Given the description of an element on the screen output the (x, y) to click on. 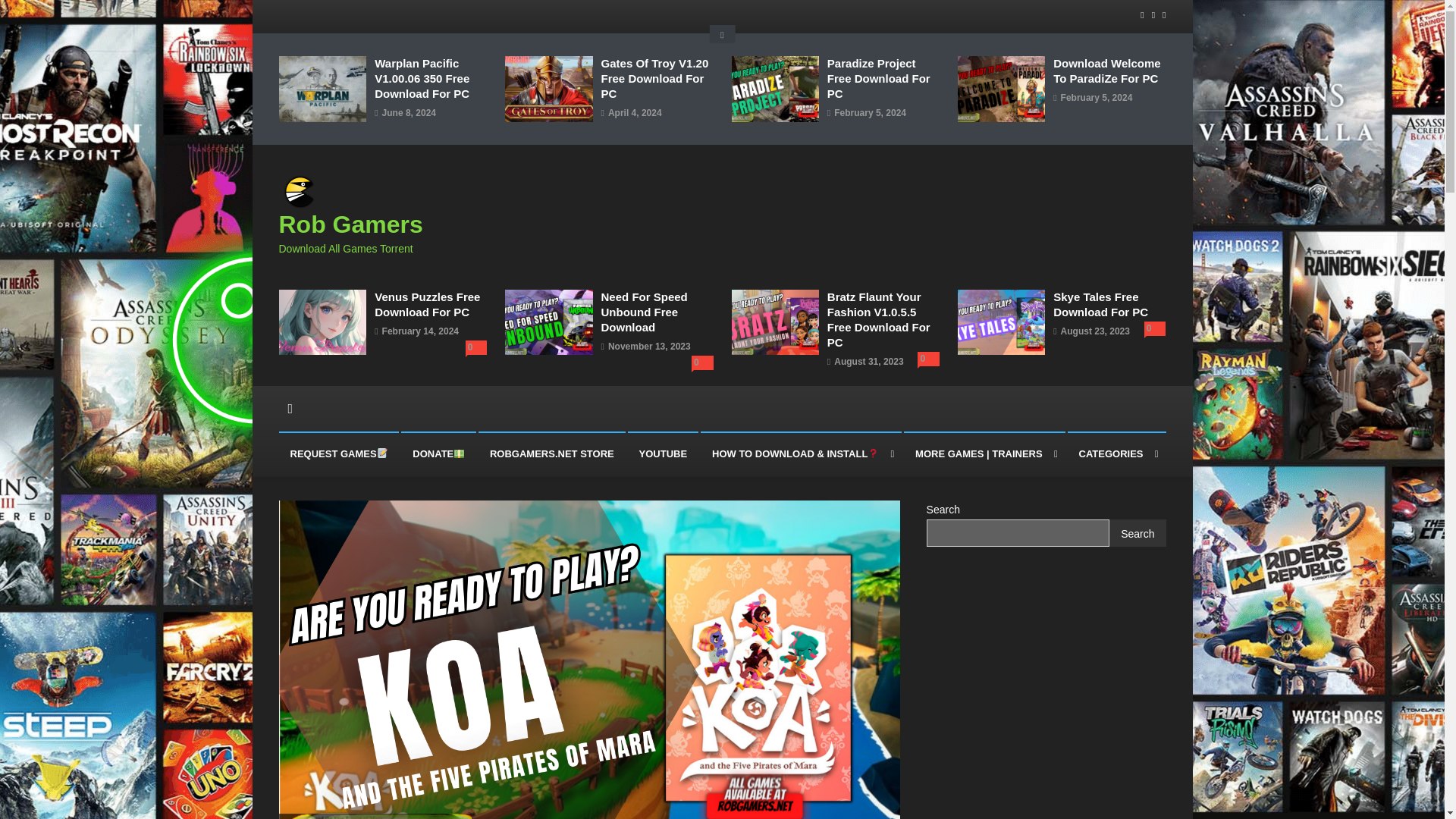
Rob Gamers (351, 224)
Venus Puzzles Free Download For PC (430, 304)
February 5, 2024 (1096, 98)
June 8, 2024 (408, 113)
Skye Tales Free Download For PC (1109, 304)
February 14, 2024 (419, 331)
Need For Speed Unbound Free Download (657, 311)
0 (1155, 328)
Bratz Flaunt Your Fashion V1.0.5.5 Free Download For PC (883, 319)
Warplan Pacific V1.00.06 350 Free Download For PC (430, 78)
0 (476, 347)
April 4, 2024 (635, 113)
0 (702, 362)
August 23, 2023 (1095, 331)
0 (928, 359)
